Given the description of an element on the screen output the (x, y) to click on. 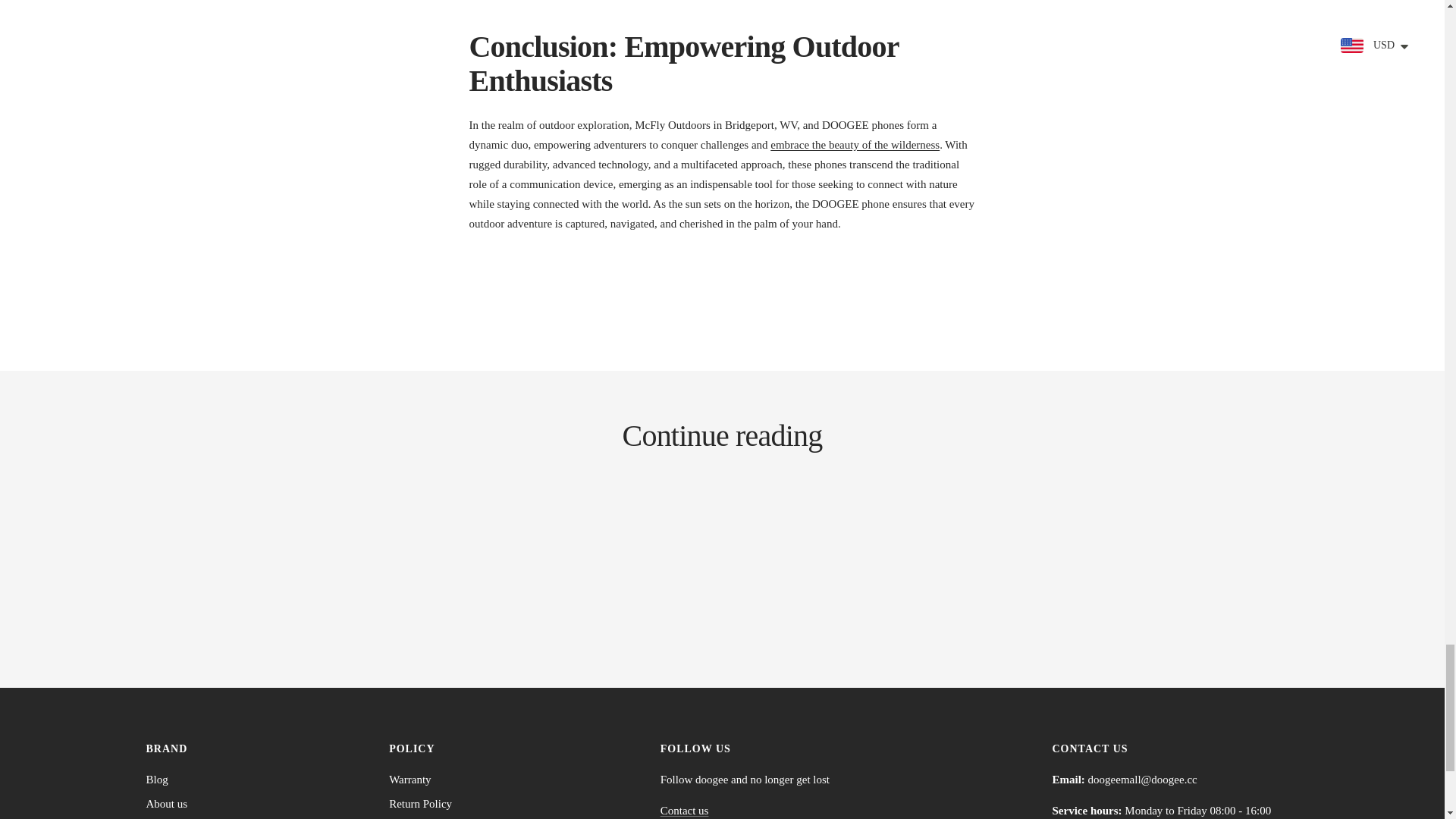
embrace the beauty of the wilderness (854, 144)
